Given the description of an element on the screen output the (x, y) to click on. 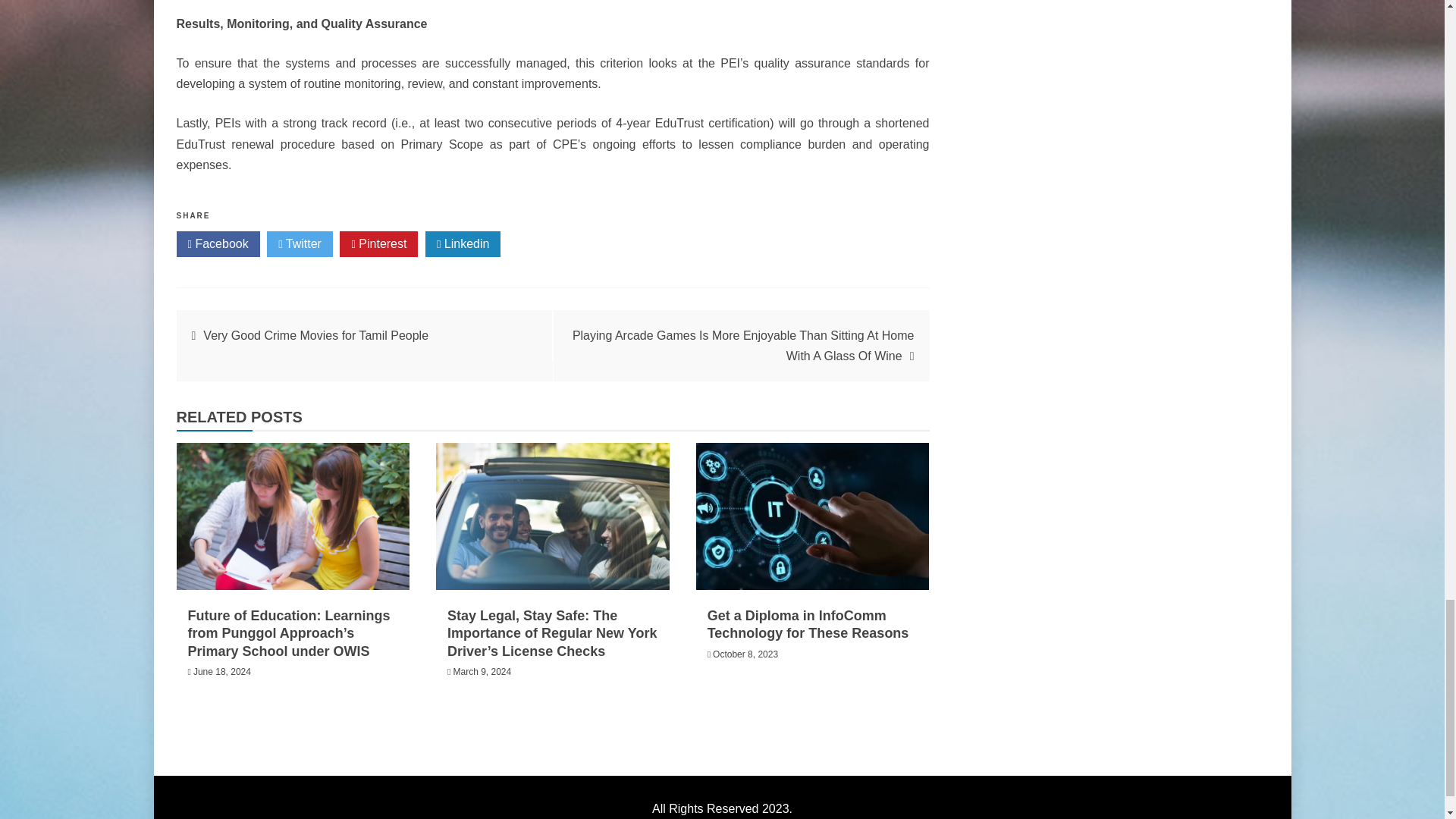
Get a Diploma in InfoComm Technology for These Reasons (807, 624)
Facebook (217, 243)
October 8, 2023 (745, 654)
March 9, 2024 (481, 671)
Linkedin (462, 243)
Very Good Crime Movies for Tamil People (315, 335)
Twitter (299, 243)
Pinterest (378, 243)
June 18, 2024 (221, 671)
